Given the description of an element on the screen output the (x, y) to click on. 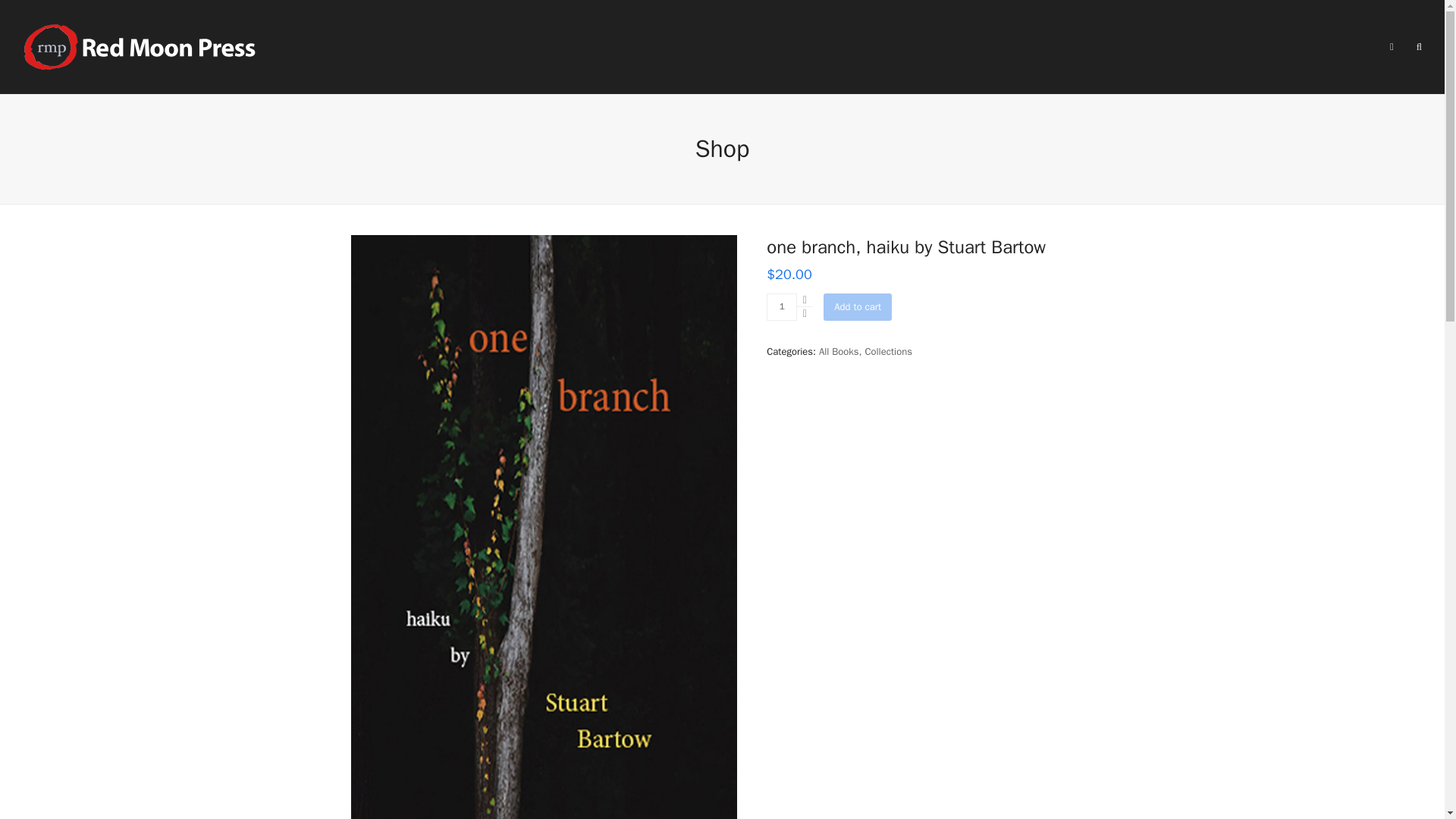
All Books (838, 350)
Add to cart (857, 307)
Collections (888, 350)
1 (781, 307)
